Given the description of an element on the screen output the (x, y) to click on. 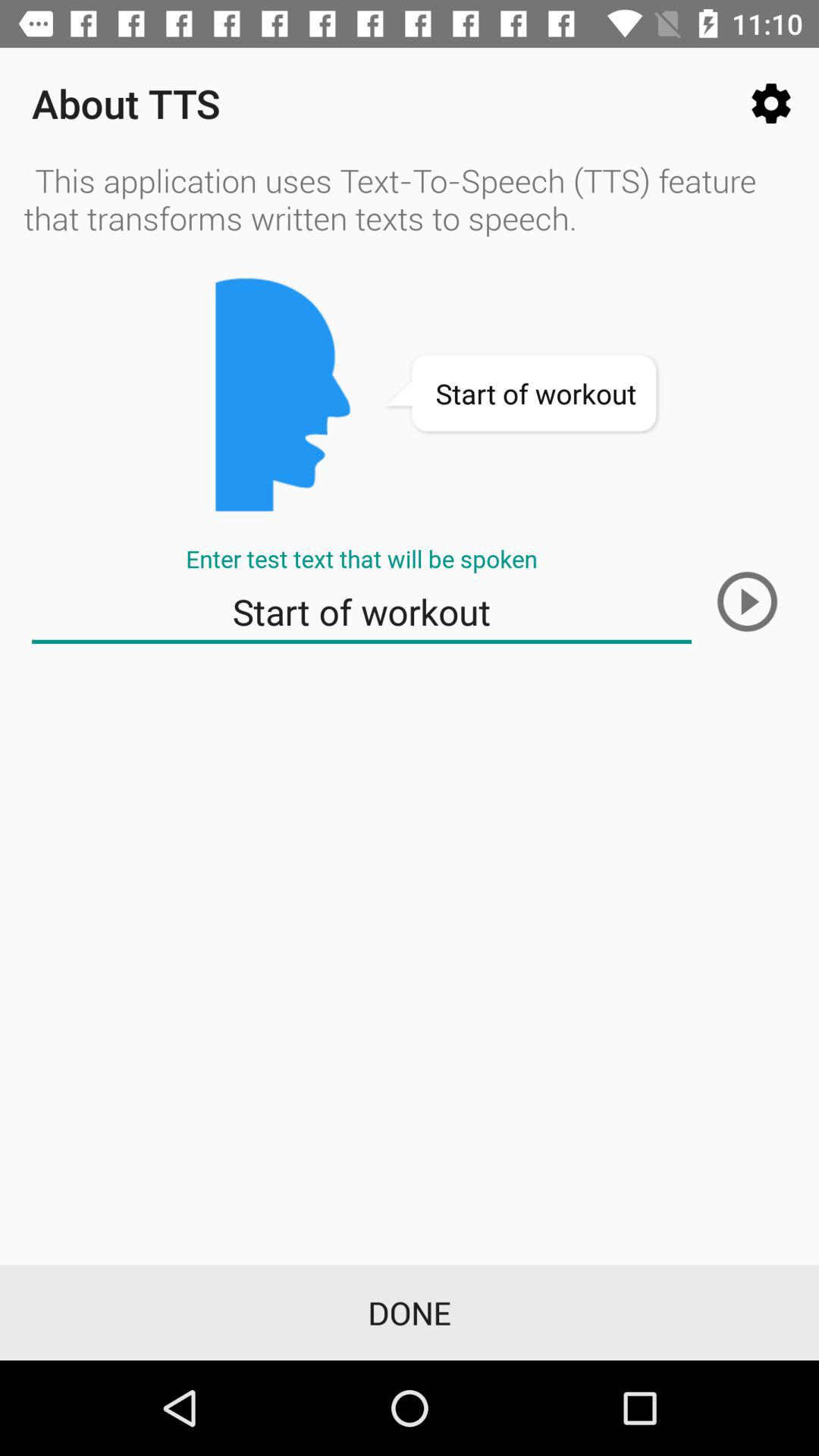
go to play obstion (747, 601)
